Given the description of an element on the screen output the (x, y) to click on. 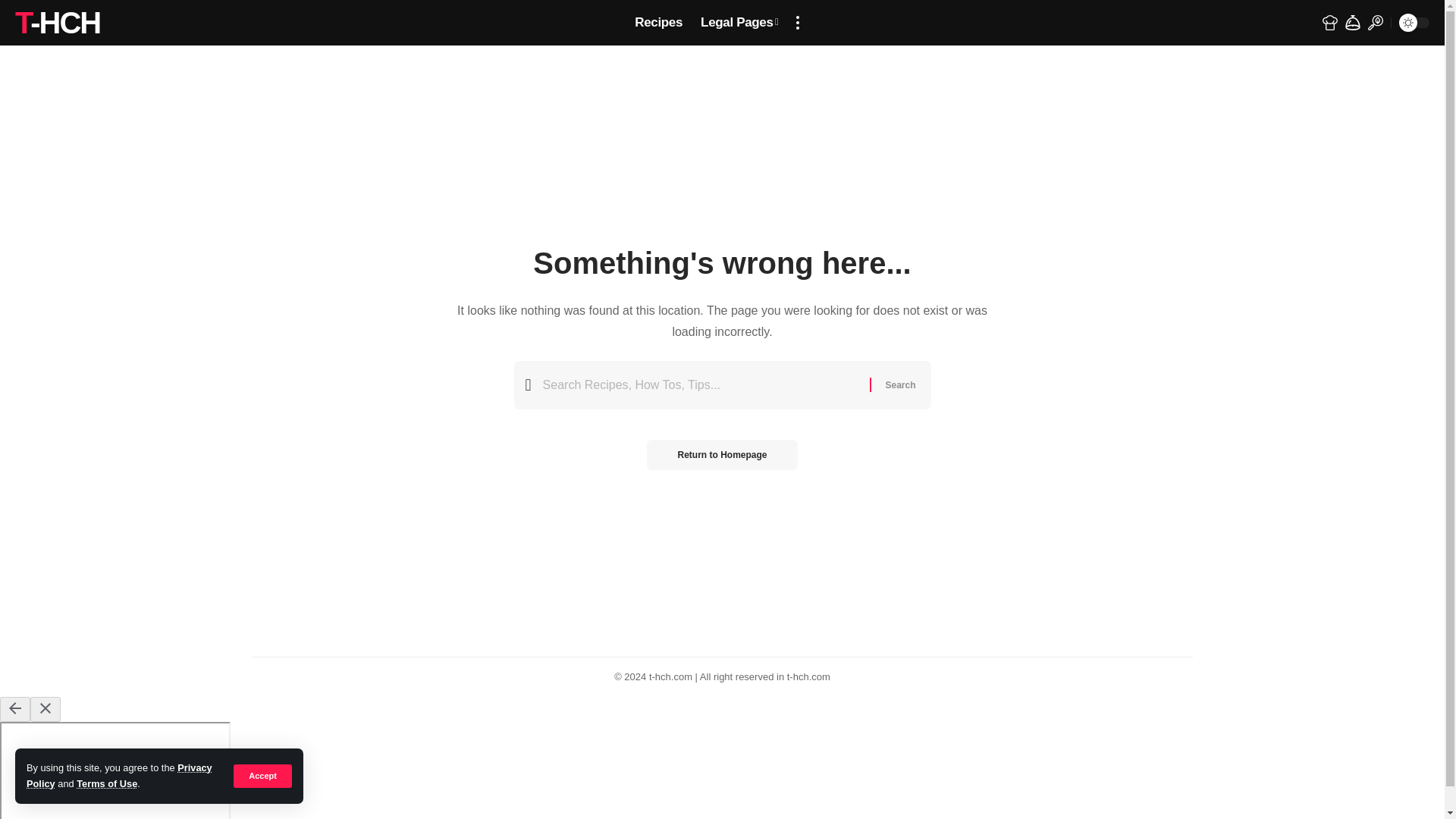
T-HCH (57, 22)
Privacy Policy (119, 775)
Legal Pages (739, 22)
T-hch (57, 22)
Search (899, 385)
Recipes (658, 22)
Terms of Use (106, 783)
Accept (262, 775)
